Given the description of an element on the screen output the (x, y) to click on. 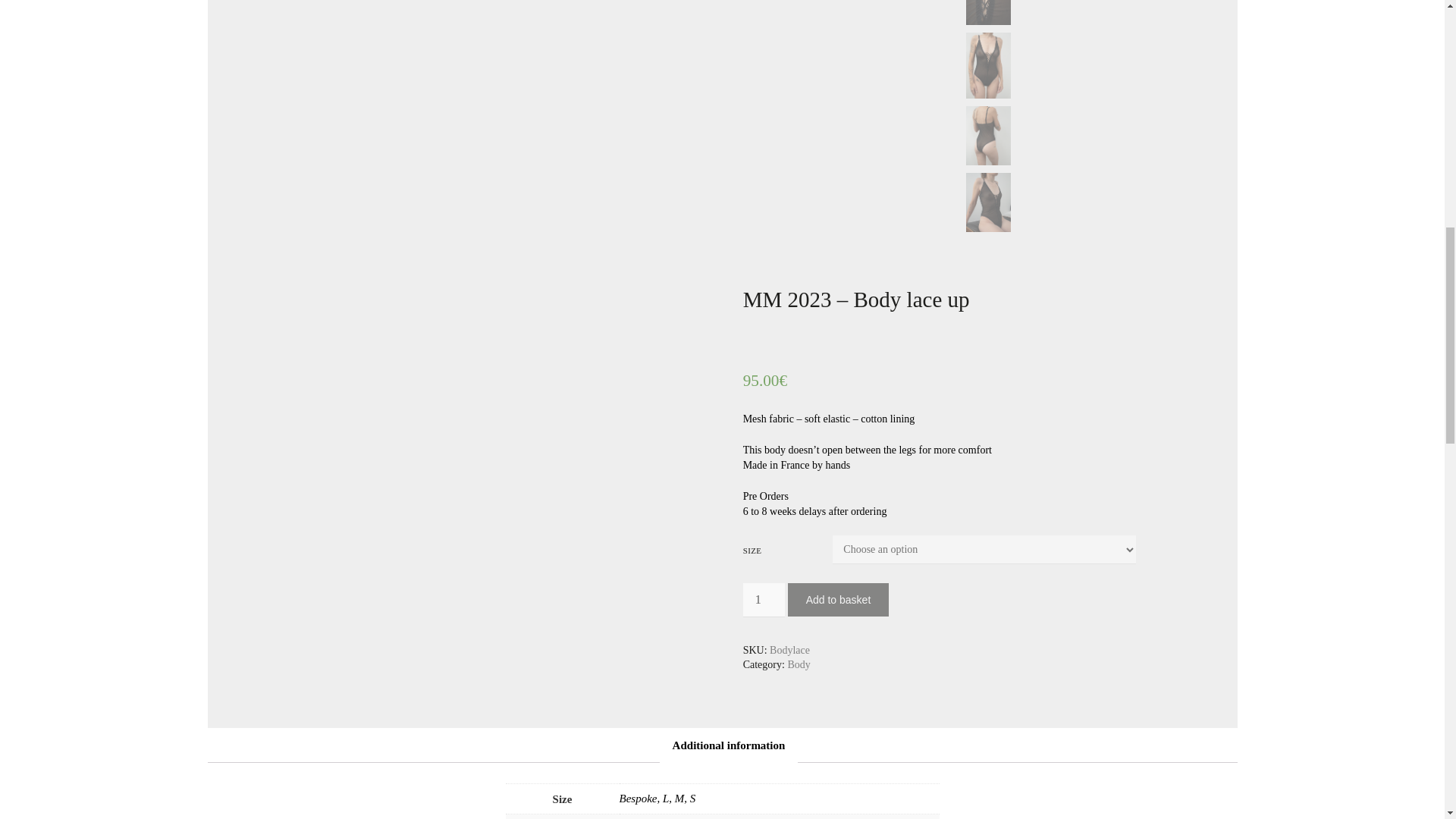
Qty (763, 600)
Body (798, 664)
Additional information (729, 745)
Add to basket (838, 599)
1 (763, 600)
